Given the description of an element on the screen output the (x, y) to click on. 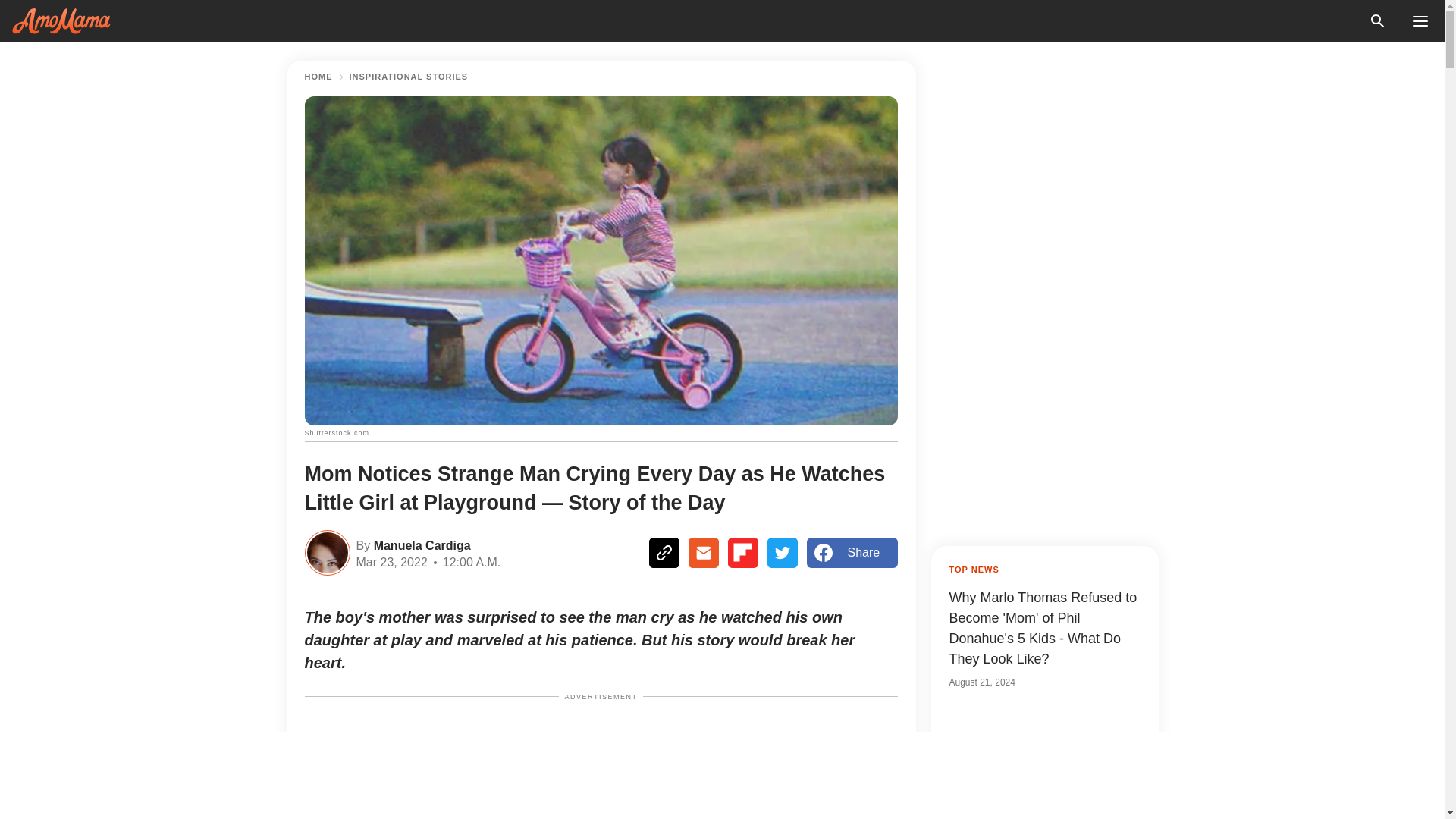
HOME (318, 76)
Manuela Cardiga (419, 544)
INSPIRATIONAL STORIES (408, 76)
